Given the description of an element on the screen output the (x, y) to click on. 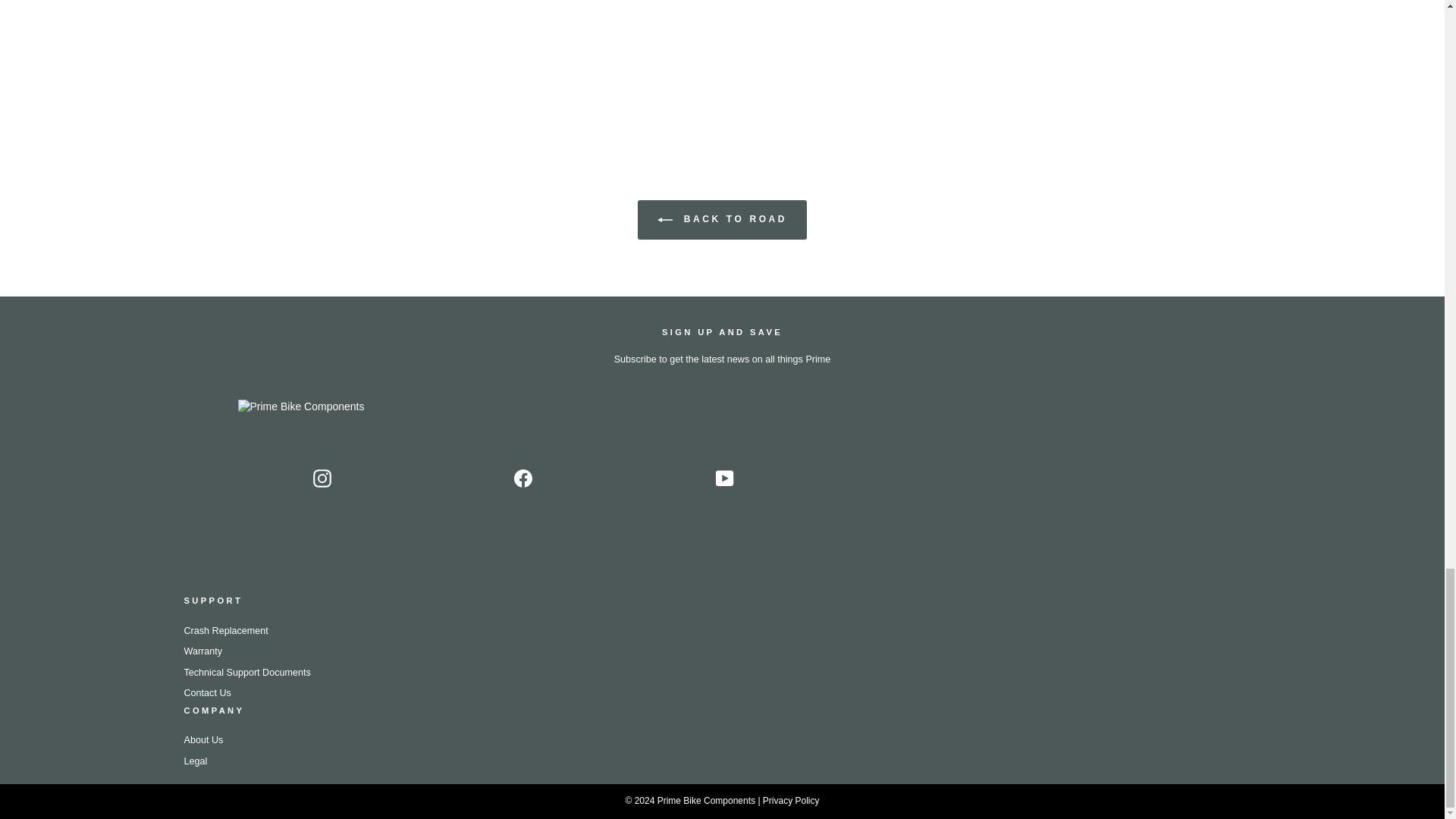
Prime Bike Components on Instagram (322, 478)
Prime Bike Components on Facebook (522, 478)
Prime Bike Components on YouTube (724, 478)
